Given the description of an element on the screen output the (x, y) to click on. 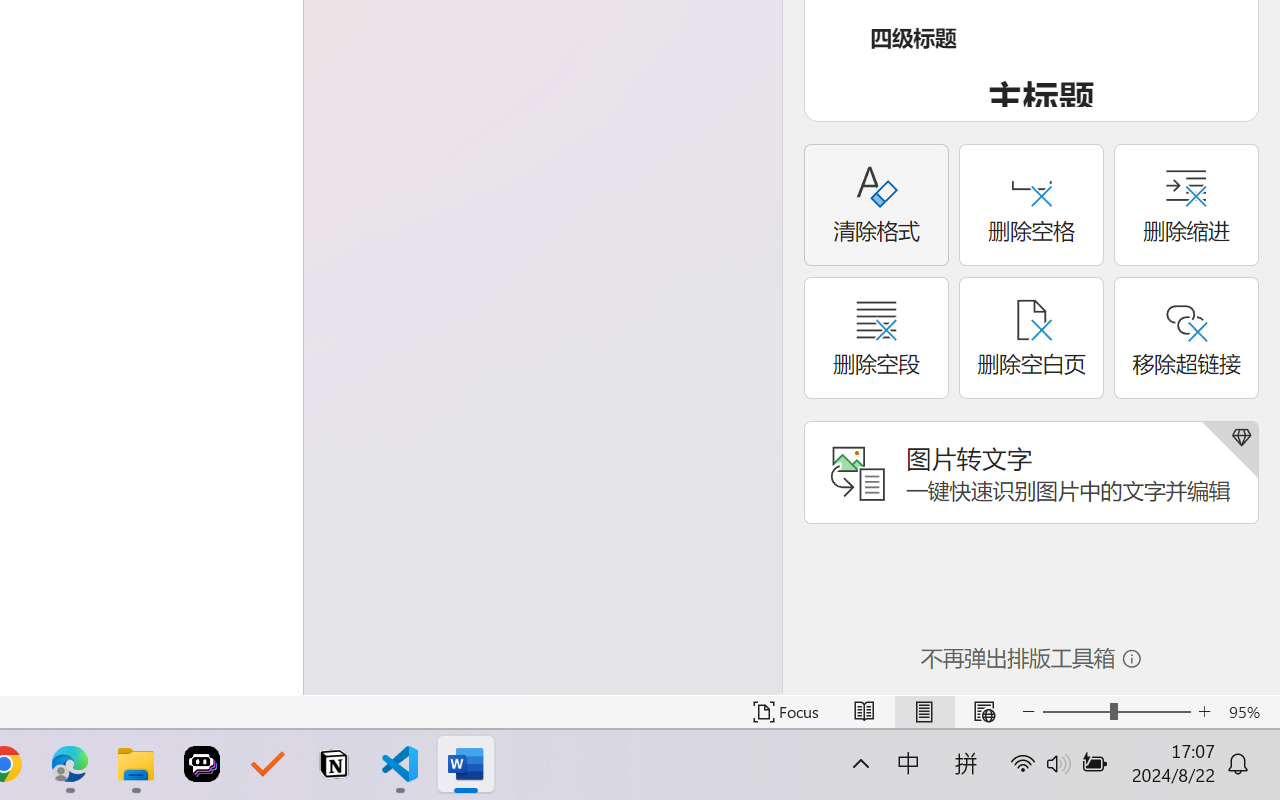
Zoom 95% (1249, 712)
